Given the description of an element on the screen output the (x, y) to click on. 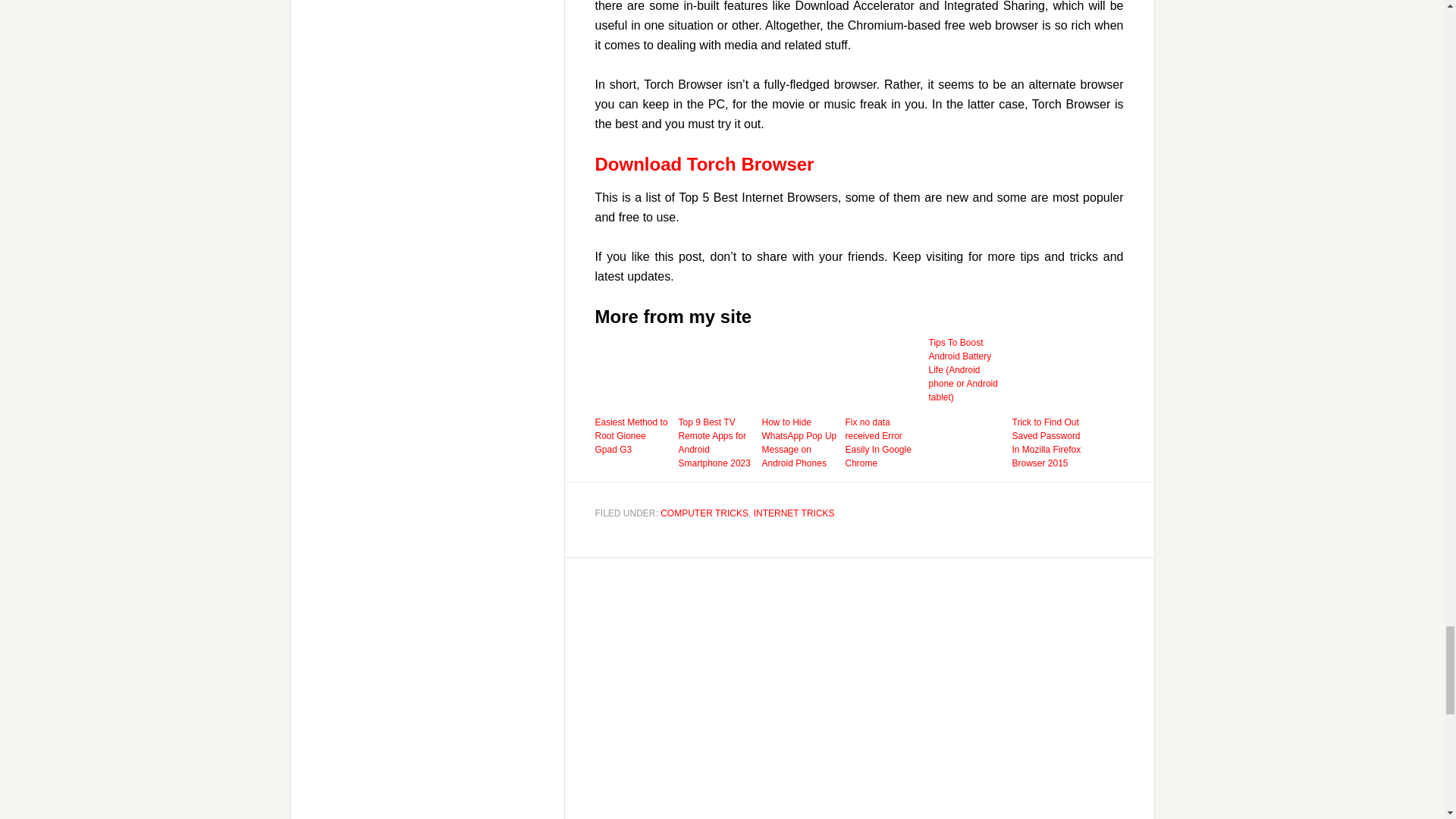
INTERNET TRICKS (794, 512)
COMPUTER TRICKS (704, 512)
Fix no data received Error Easily In Google Chrome (882, 442)
How to Hide WhatsApp Pop Up Message on Android Phones (799, 442)
Top 9 Best TV Remote Apps for Android Smartphone 2023 (716, 442)
Download Torch Browser (703, 163)
Easiest Method to Root Gionee Gpad G3 (631, 435)
